Given the description of an element on the screen output the (x, y) to click on. 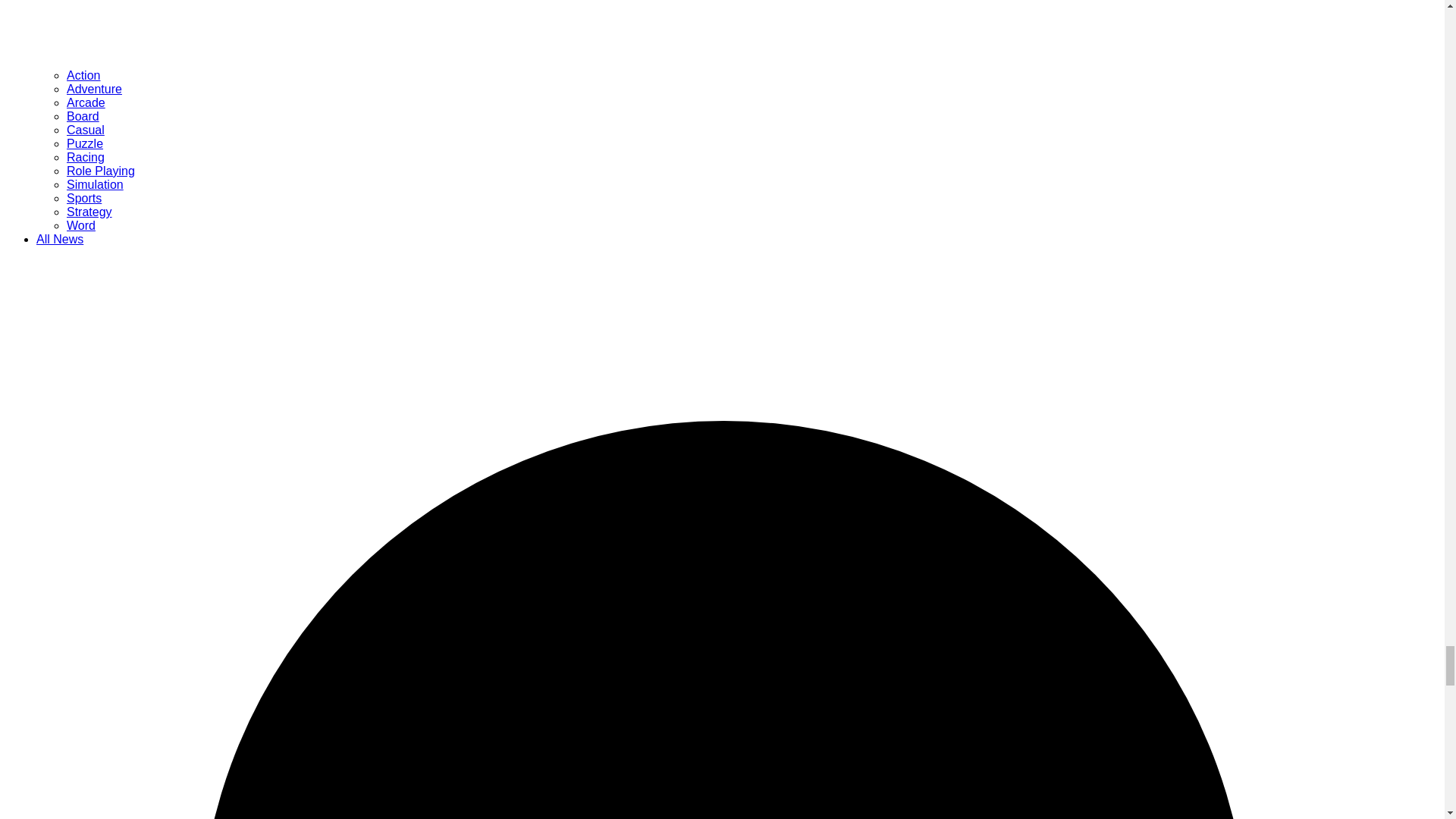
Casual (85, 129)
Action (83, 74)
Arcade (85, 102)
Puzzle (84, 143)
Board (82, 115)
Adventure (94, 88)
